Given the description of an element on the screen output the (x, y) to click on. 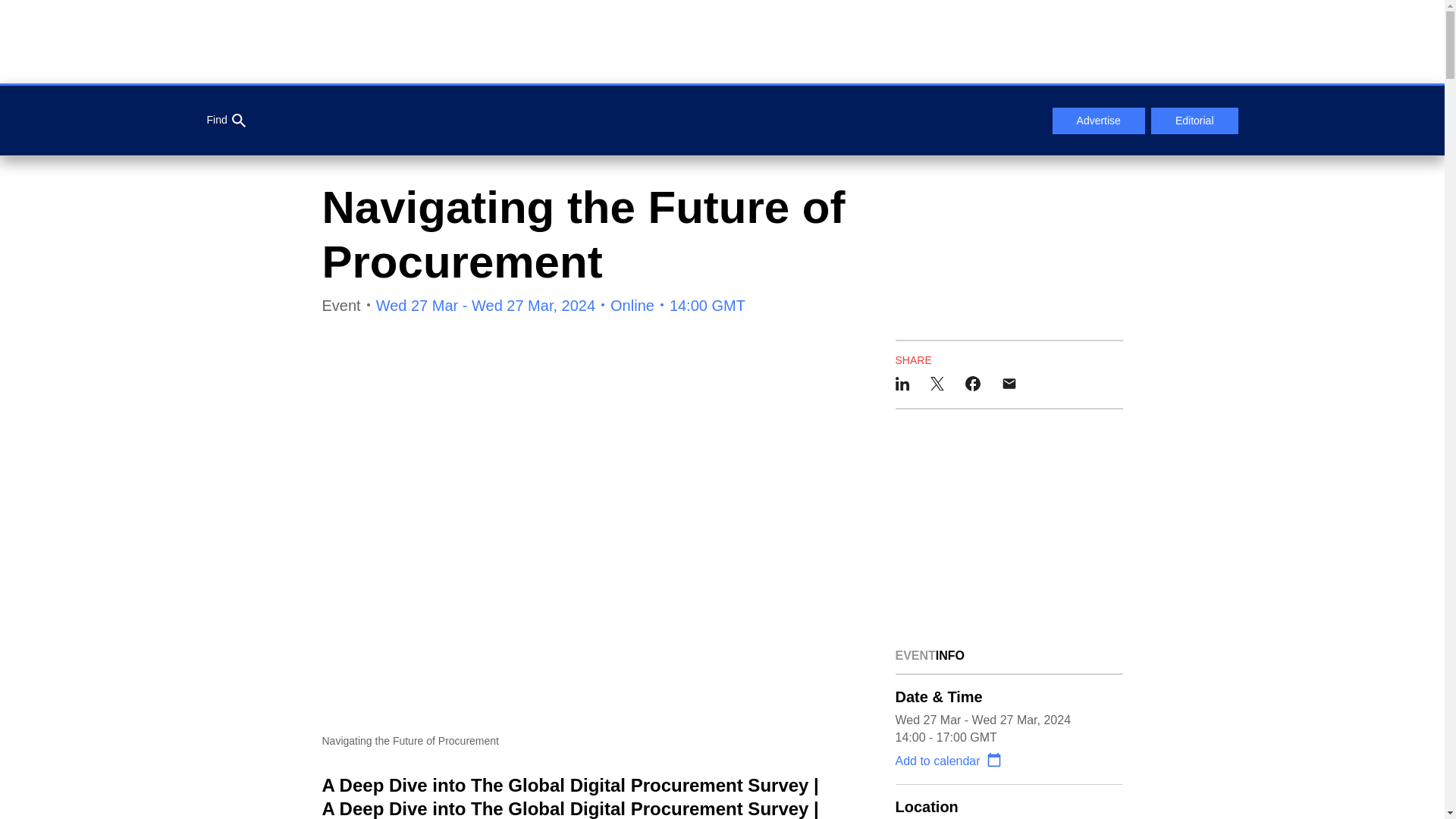
Advertise (1098, 121)
Find (225, 120)
Editorial (1195, 121)
Add to calendar (948, 759)
